Given the description of an element on the screen output the (x, y) to click on. 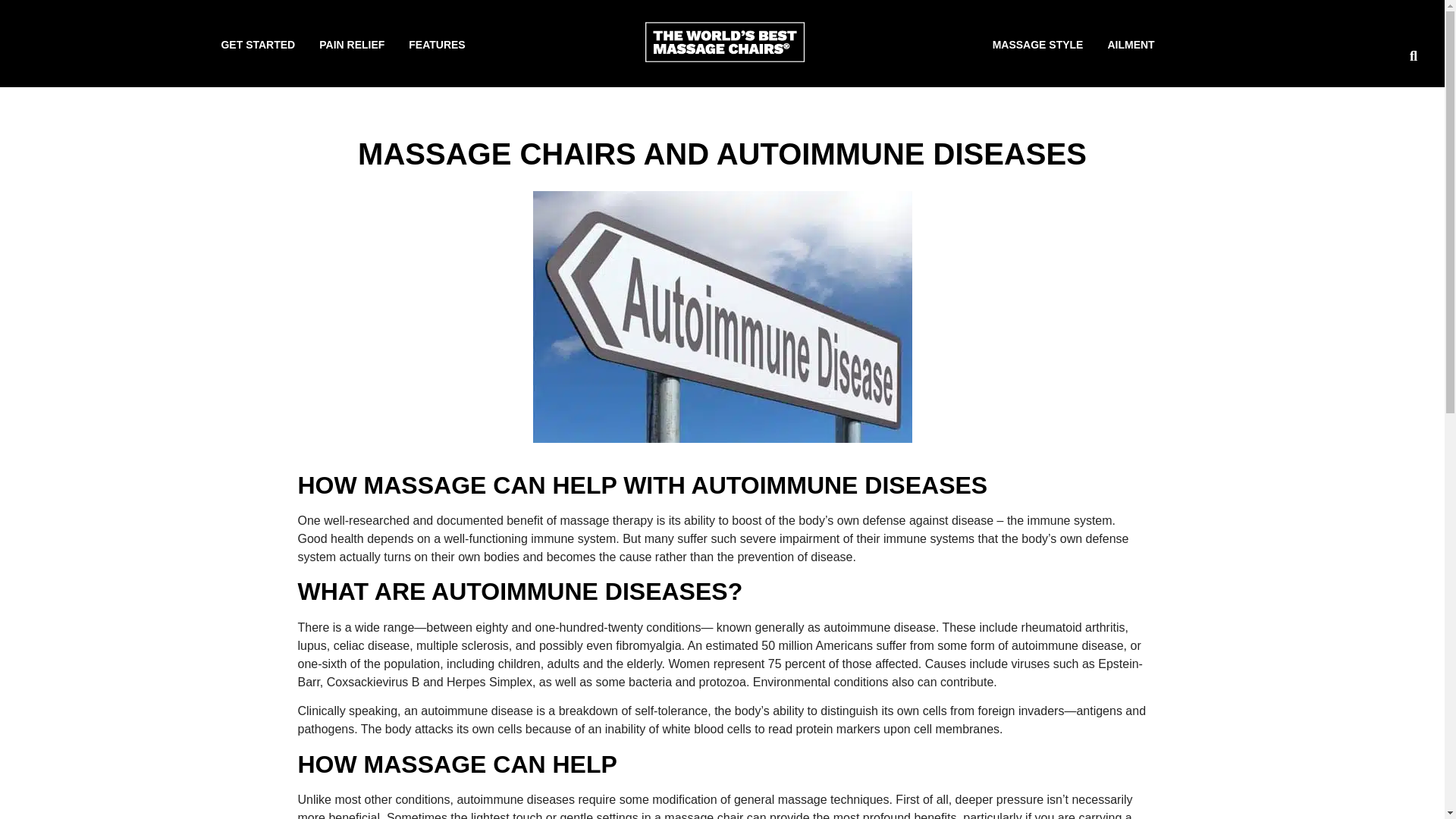
FEATURES (436, 44)
GET STARTED (257, 44)
PAIN RELIEF (351, 44)
